Given the description of an element on the screen output the (x, y) to click on. 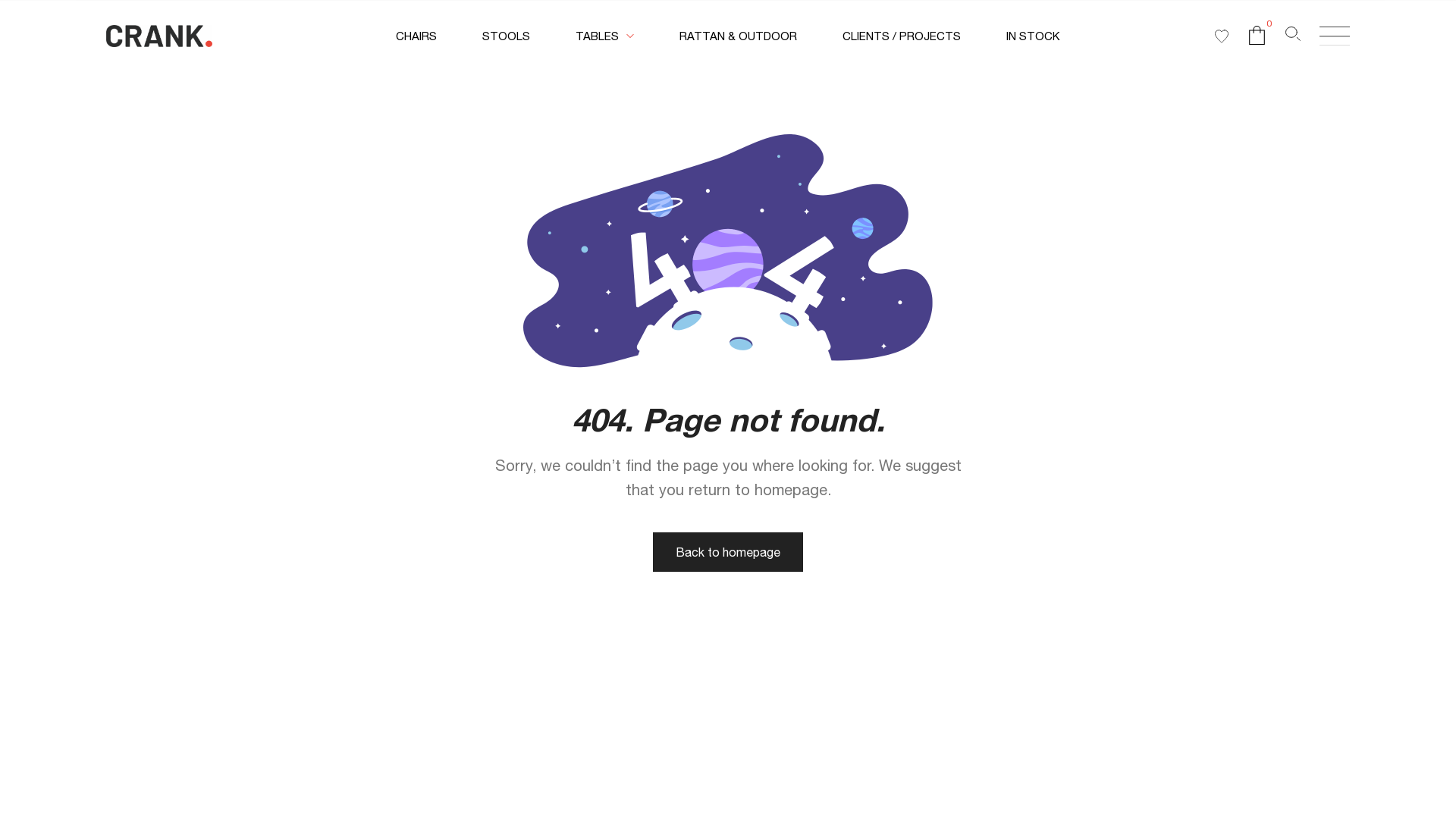
CHAIRS Element type: text (416, 35)
RATTAN & OUTDOOR Element type: text (737, 35)
0 Element type: text (1256, 40)
CLIENTS / PROJECTS Element type: text (901, 35)
STOOLS Element type: text (505, 35)
IN STOCK Element type: text (1032, 35)
TABLES Element type: text (604, 35)
Back to homepage Element type: text (727, 551)
